Given the description of an element on the screen output the (x, y) to click on. 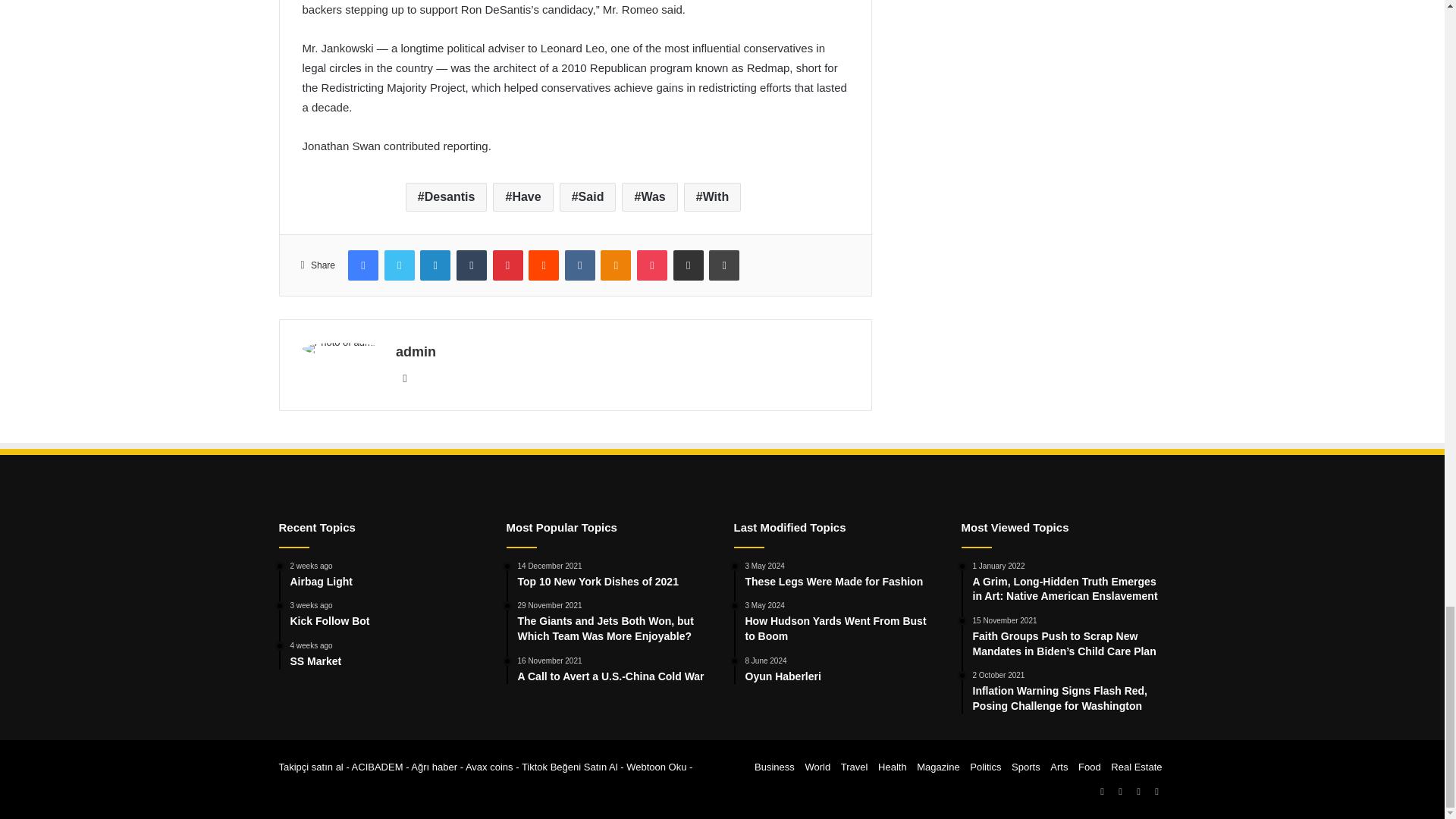
Desantis (446, 196)
